Given the description of an element on the screen output the (x, y) to click on. 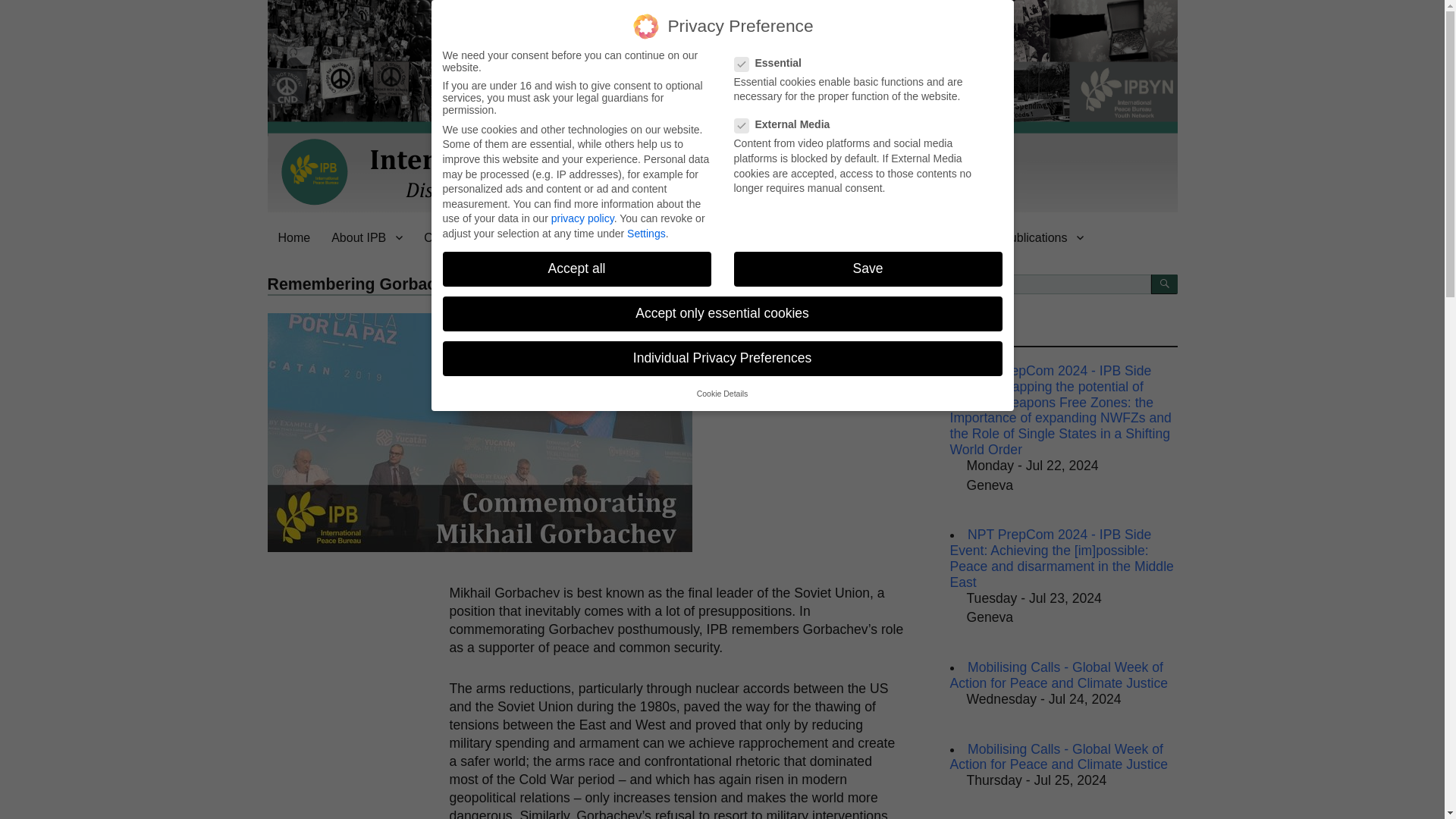
Home (293, 237)
Open Cookie Preferences (32, 784)
About IPB (366, 237)
Our Concerns (470, 237)
